Given the description of an element on the screen output the (x, y) to click on. 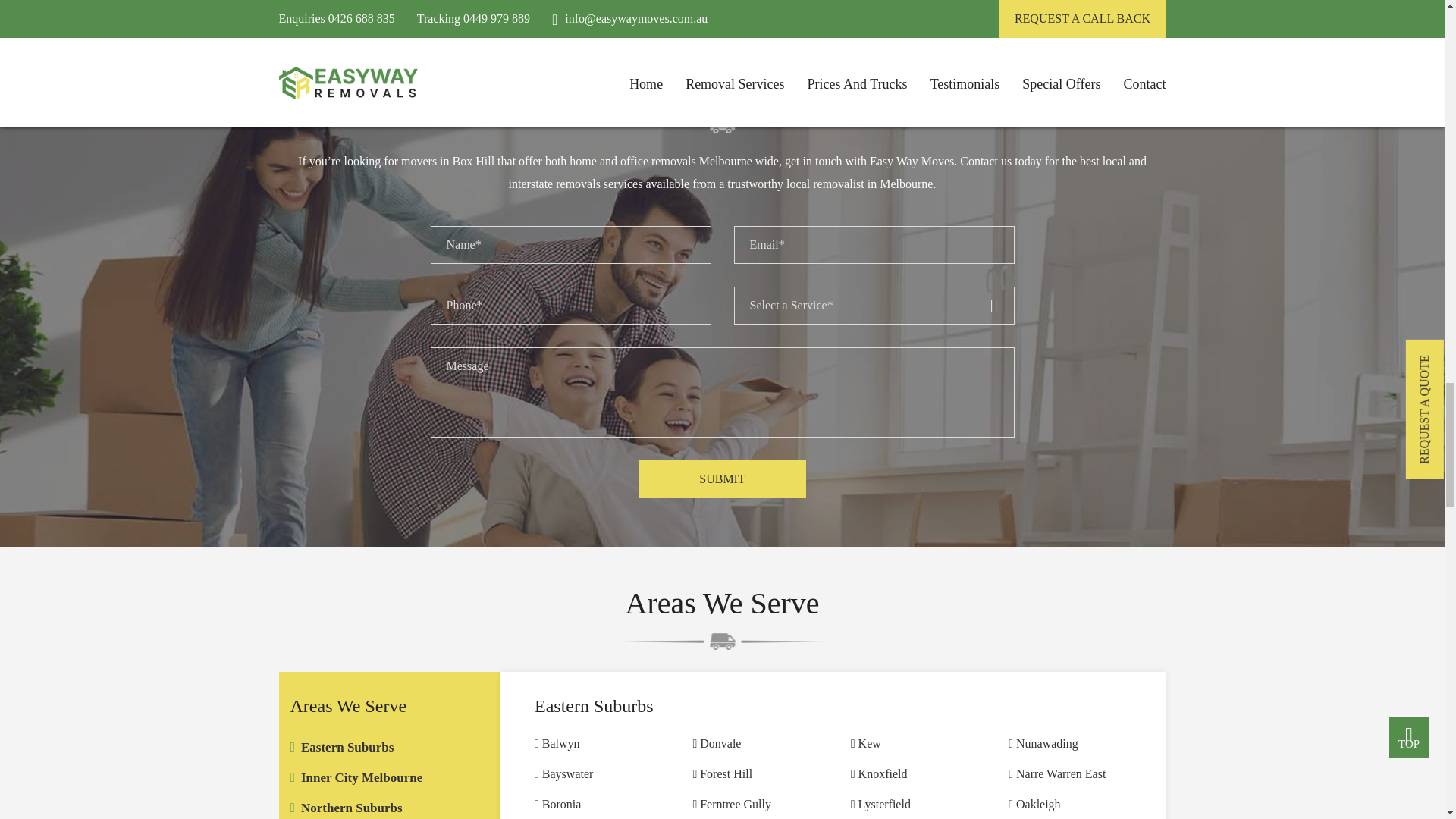
SUBMIT (722, 478)
